Given the description of an element on the screen output the (x, y) to click on. 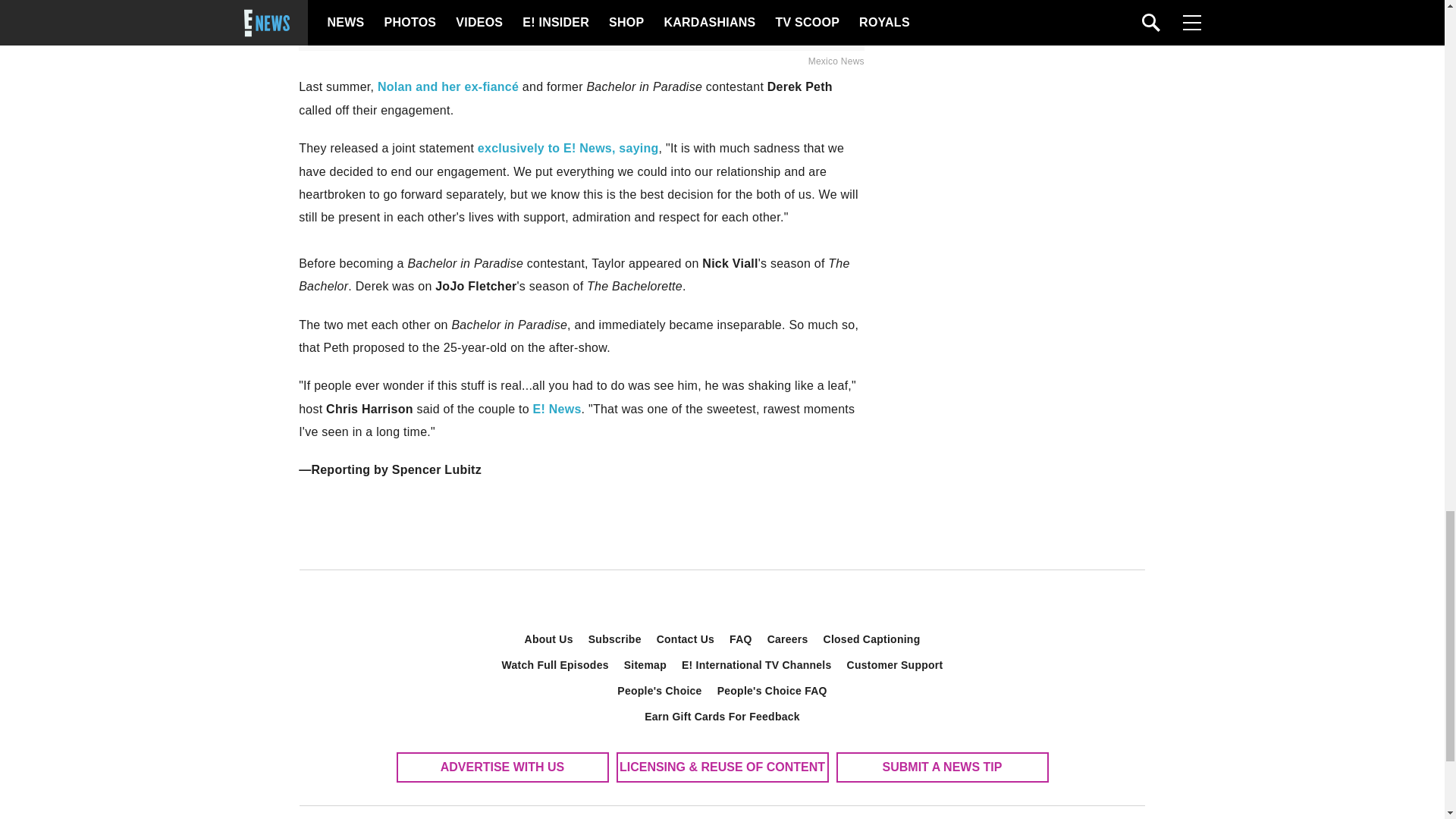
Careers (787, 638)
About Us (548, 638)
exclusively to E! News, saying (568, 147)
FAQ (741, 638)
Subscribe (614, 638)
Contact Us (685, 638)
E! News (556, 408)
